Given the description of an element on the screen output the (x, y) to click on. 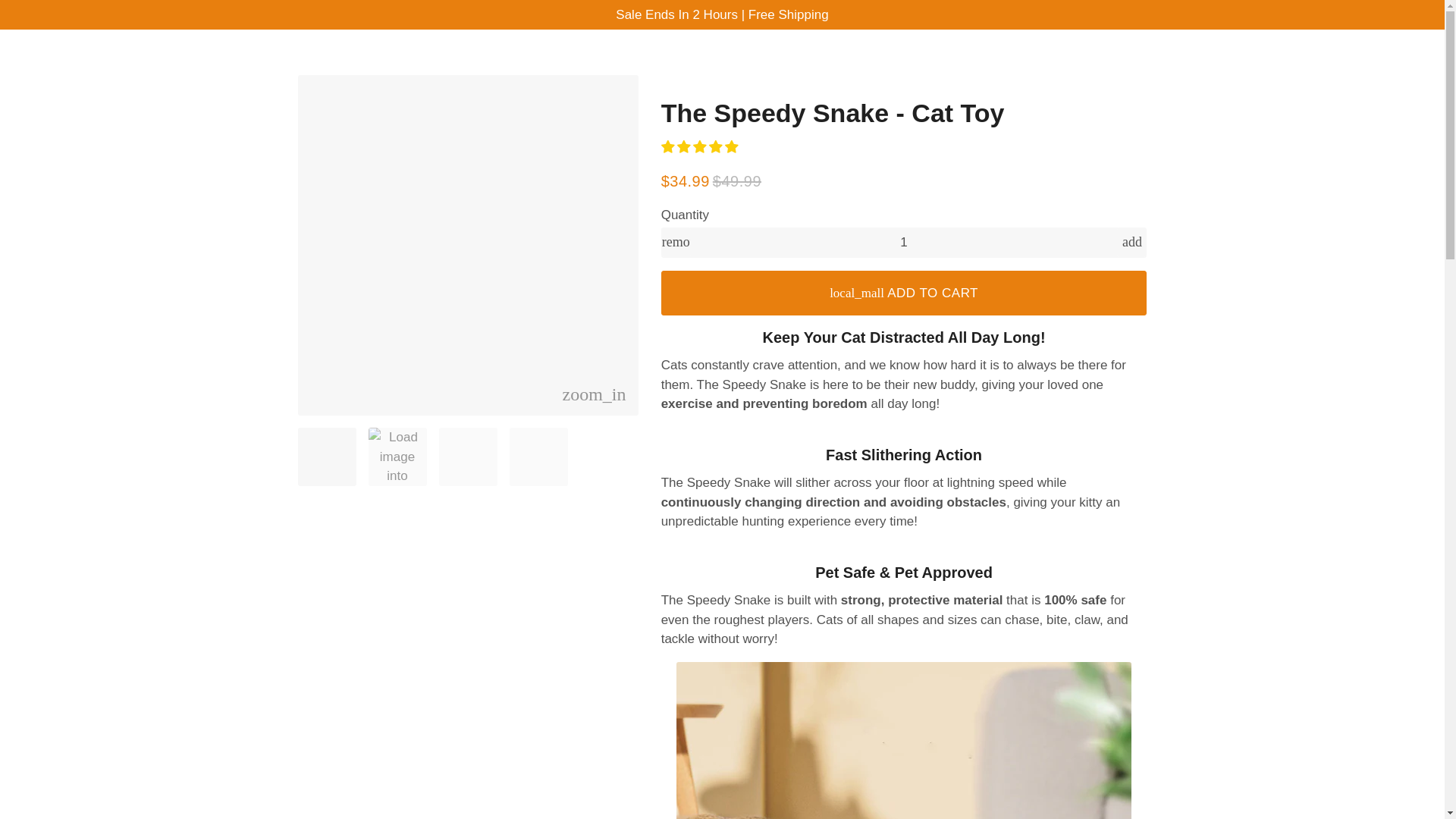
Home (585, 55)
Reduce item quantity by one (675, 242)
About Us (705, 55)
Contact (853, 55)
remove (675, 242)
Catalog (639, 55)
Cart (1102, 55)
Increase item quantity by one (1131, 242)
add (1131, 242)
